Given the description of an element on the screen output the (x, y) to click on. 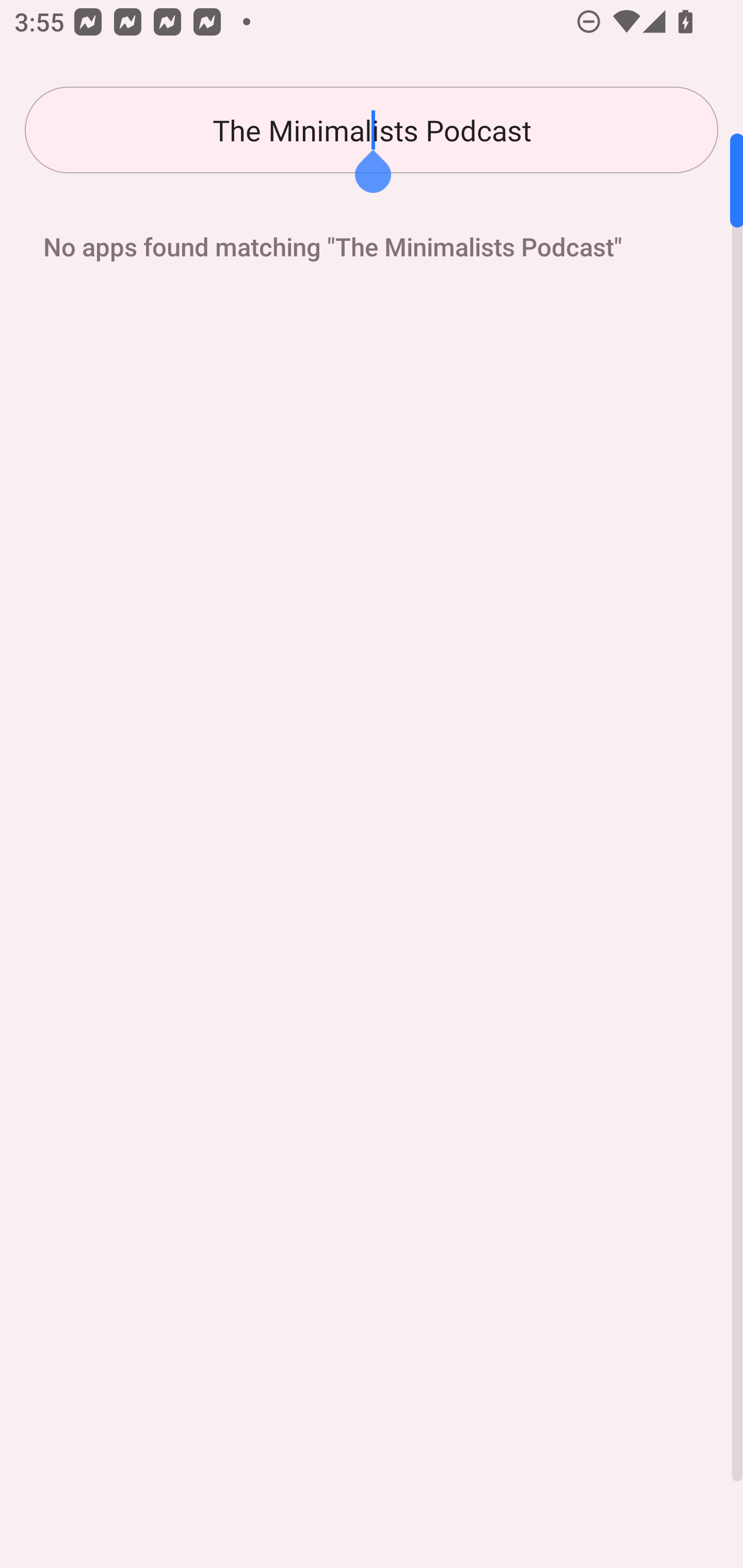
The Minimalists Podcast (371, 130)
